Given the description of an element on the screen output the (x, y) to click on. 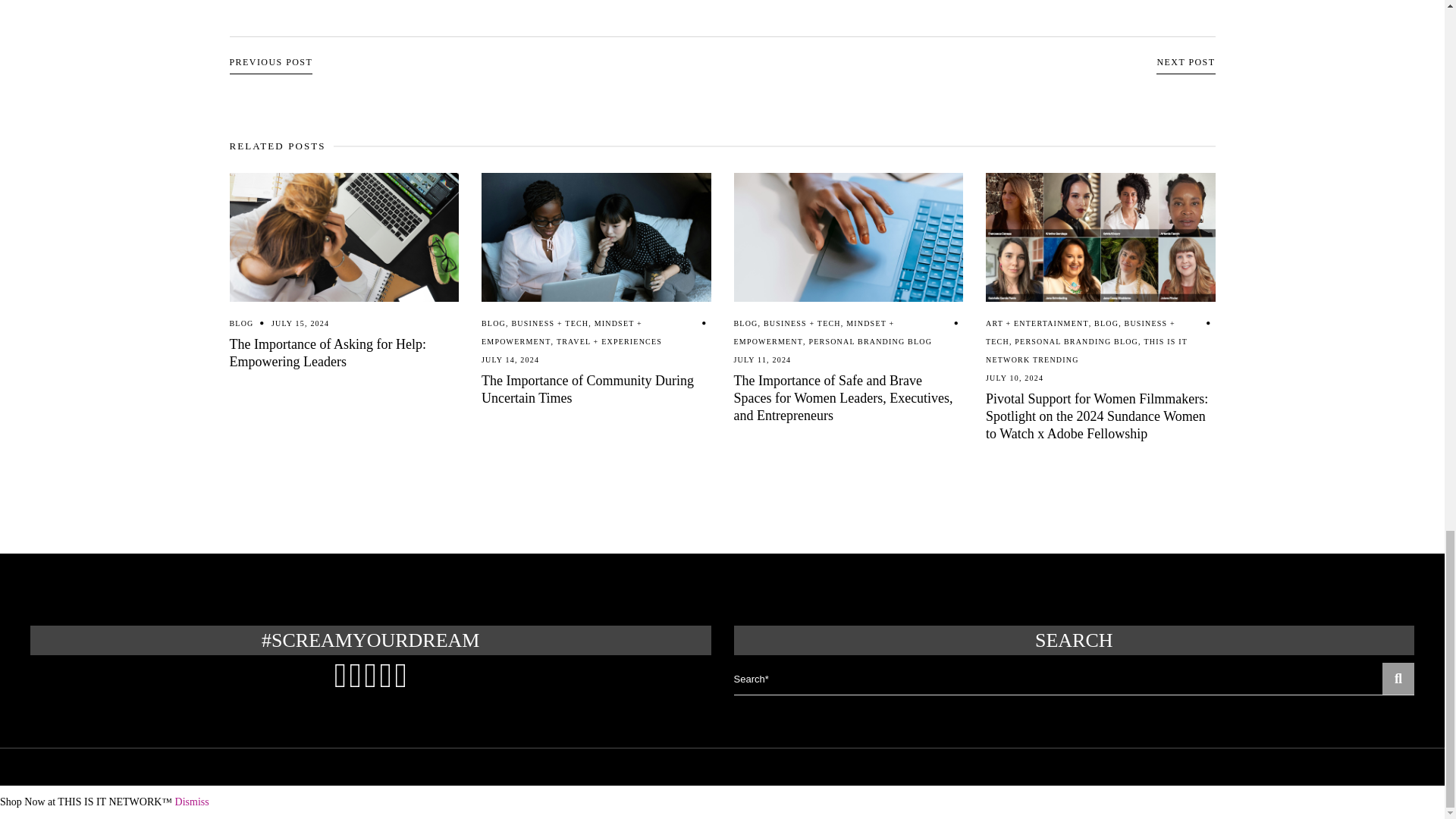
The Importance of Asking for Help: Empowering Leaders (343, 237)
The Importance of Community During Uncertain Times (587, 389)
The Importance of Community During Uncertain Times (596, 237)
Search for: (1058, 678)
The Importance of Asking for Help: Empowering Leaders (326, 352)
